Given the description of an element on the screen output the (x, y) to click on. 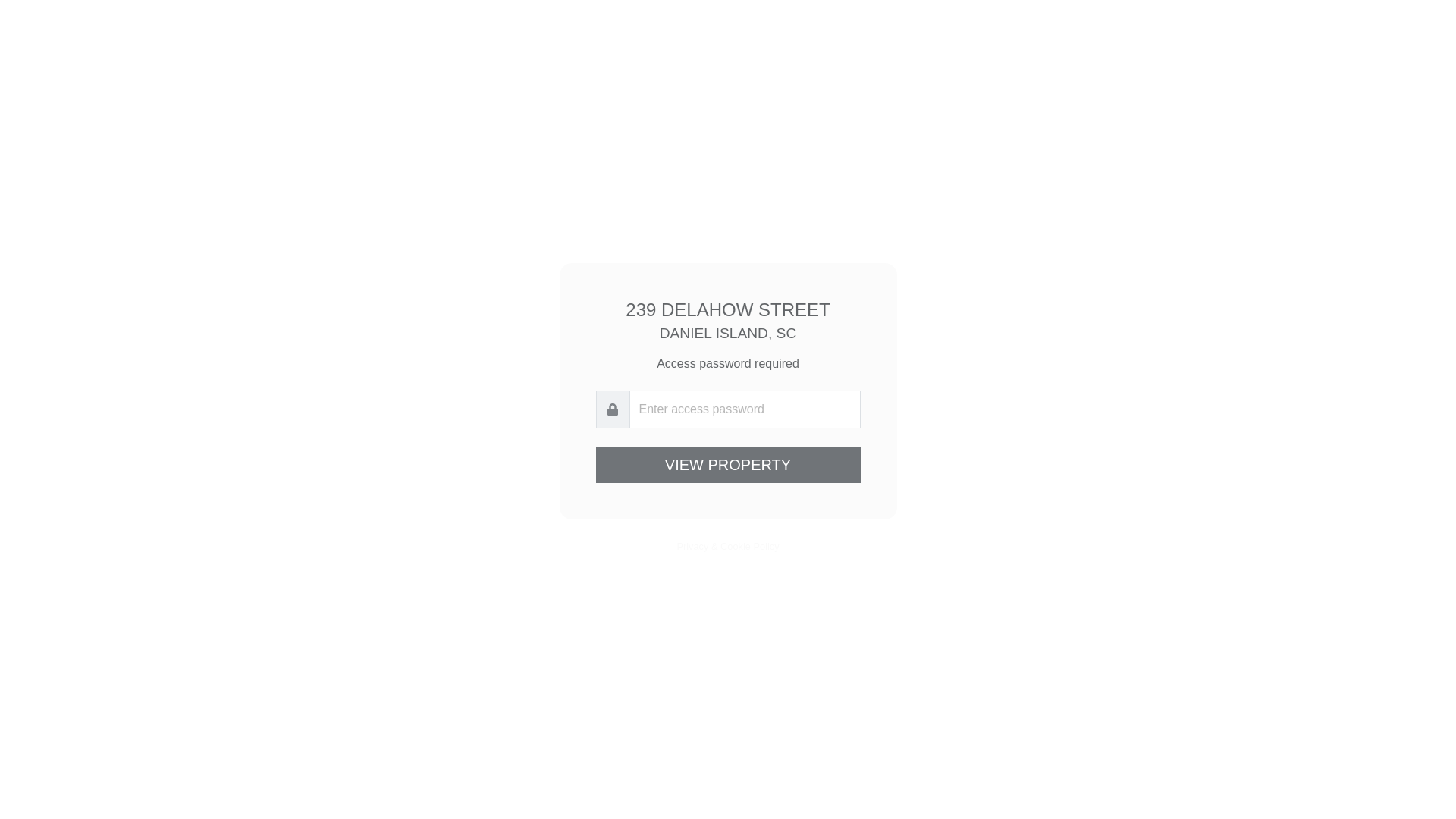
Privacy & Cookie Policy Element type: text (727, 546)
VIEW PROPERTY Element type: text (728, 464)
